Given the description of an element on the screen output the (x, y) to click on. 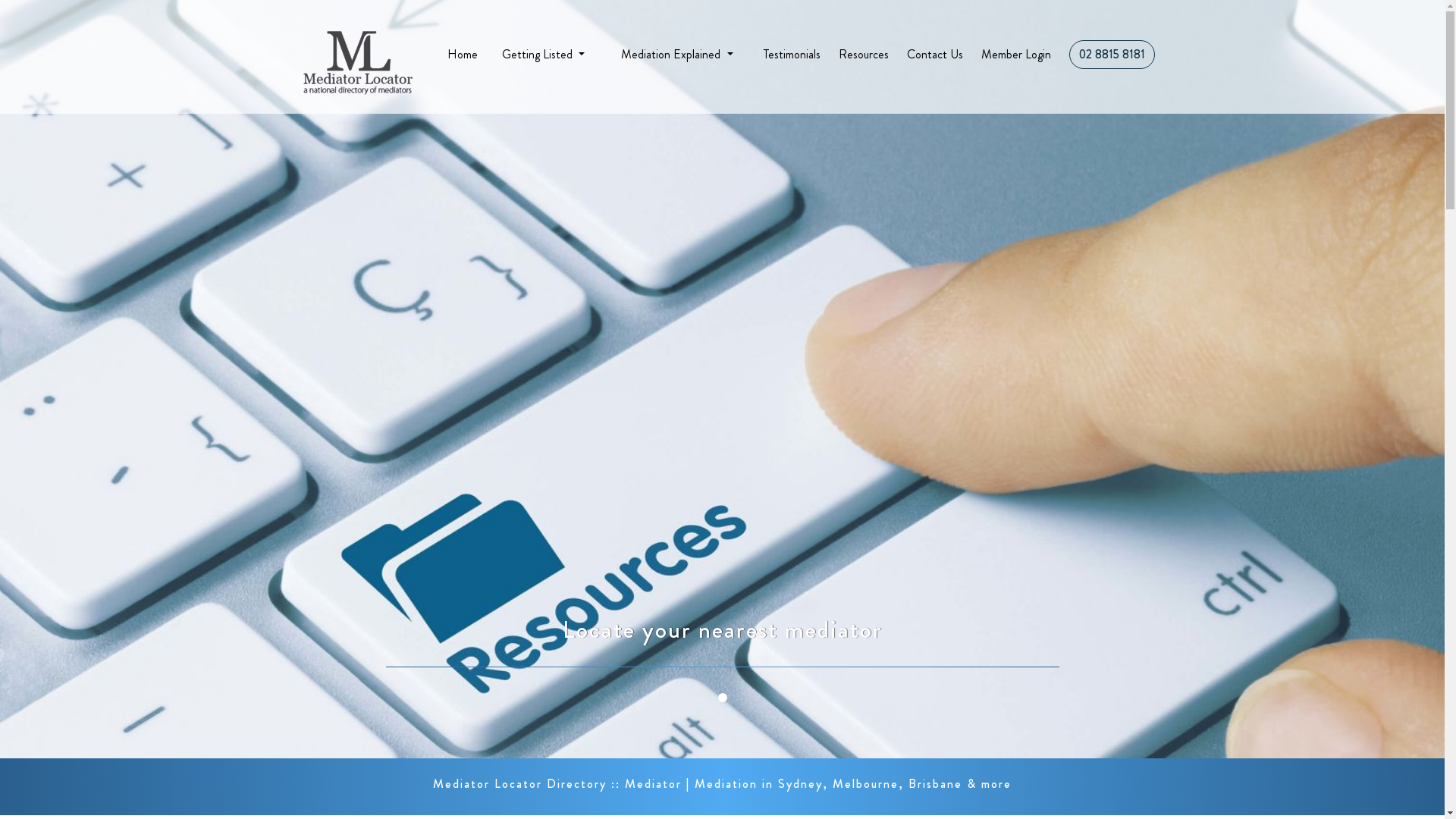
02 8815 8181 Element type: text (1111, 54)
Mediation Explained Element type: text (676, 54)
Contact Us Element type: text (934, 54)
Slide 1 Element type: hover (722, 379)
Member Login Element type: text (1016, 54)
Getting Listed Element type: text (542, 54)
Testimonials Element type: text (790, 54)
Resources Element type: text (863, 54)
Home Element type: text (462, 54)
